Given the description of an element on the screen output the (x, y) to click on. 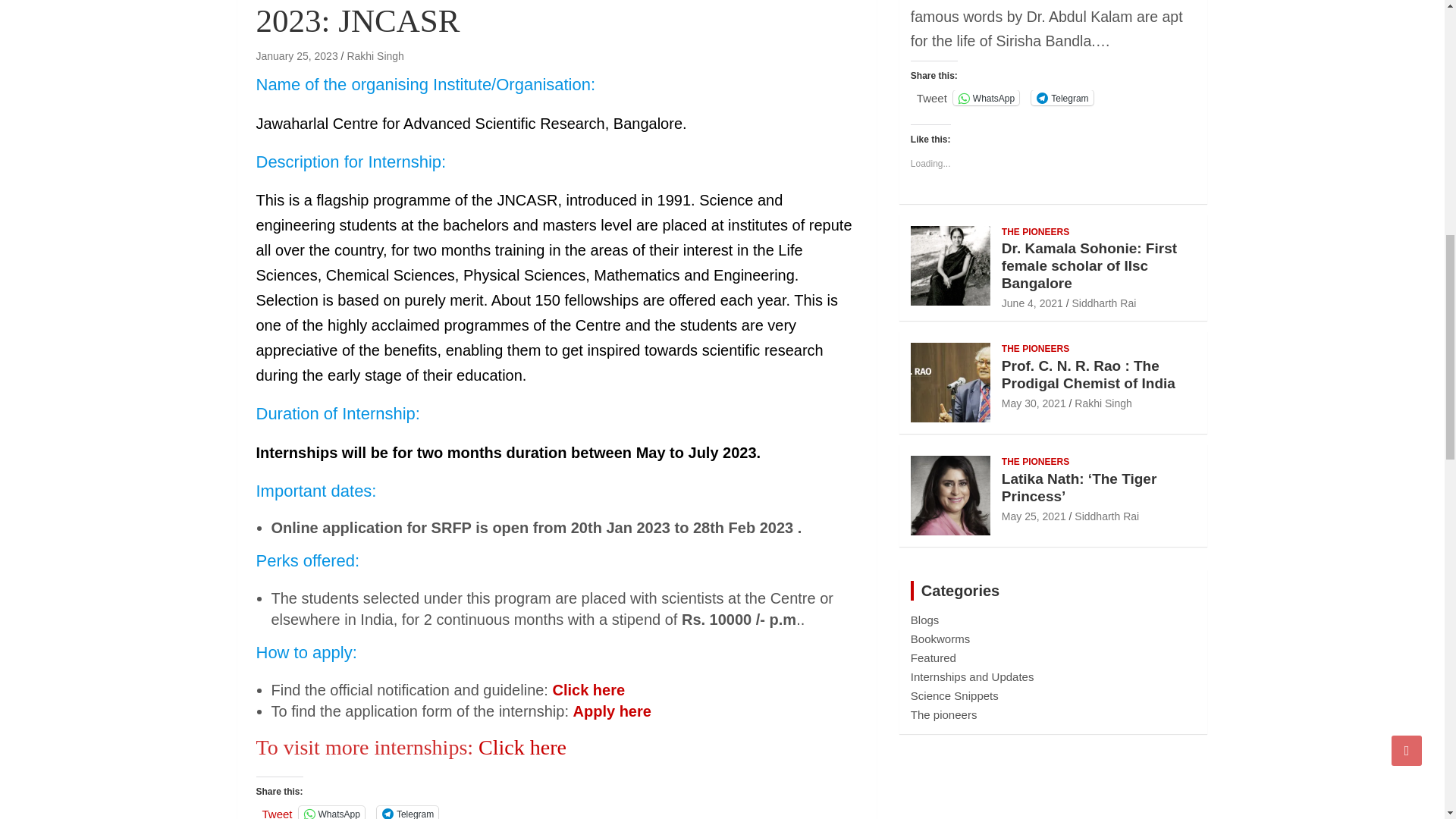
Summer Research Fellowship Programme 2023: JNCASR (296, 55)
Telegram (407, 812)
Prof. C. N. R. Rao : The Prodigal Chemist of India (1033, 403)
Click to share on Telegram (407, 812)
WhatsApp (331, 812)
Dr. Kamala Sohonie: First female scholar of IIsc Bangalore (1031, 303)
Tweet (277, 812)
Apply here (611, 710)
Click to share on WhatsApp (331, 812)
January 25, 2023 (296, 55)
